Given the description of an element on the screen output the (x, y) to click on. 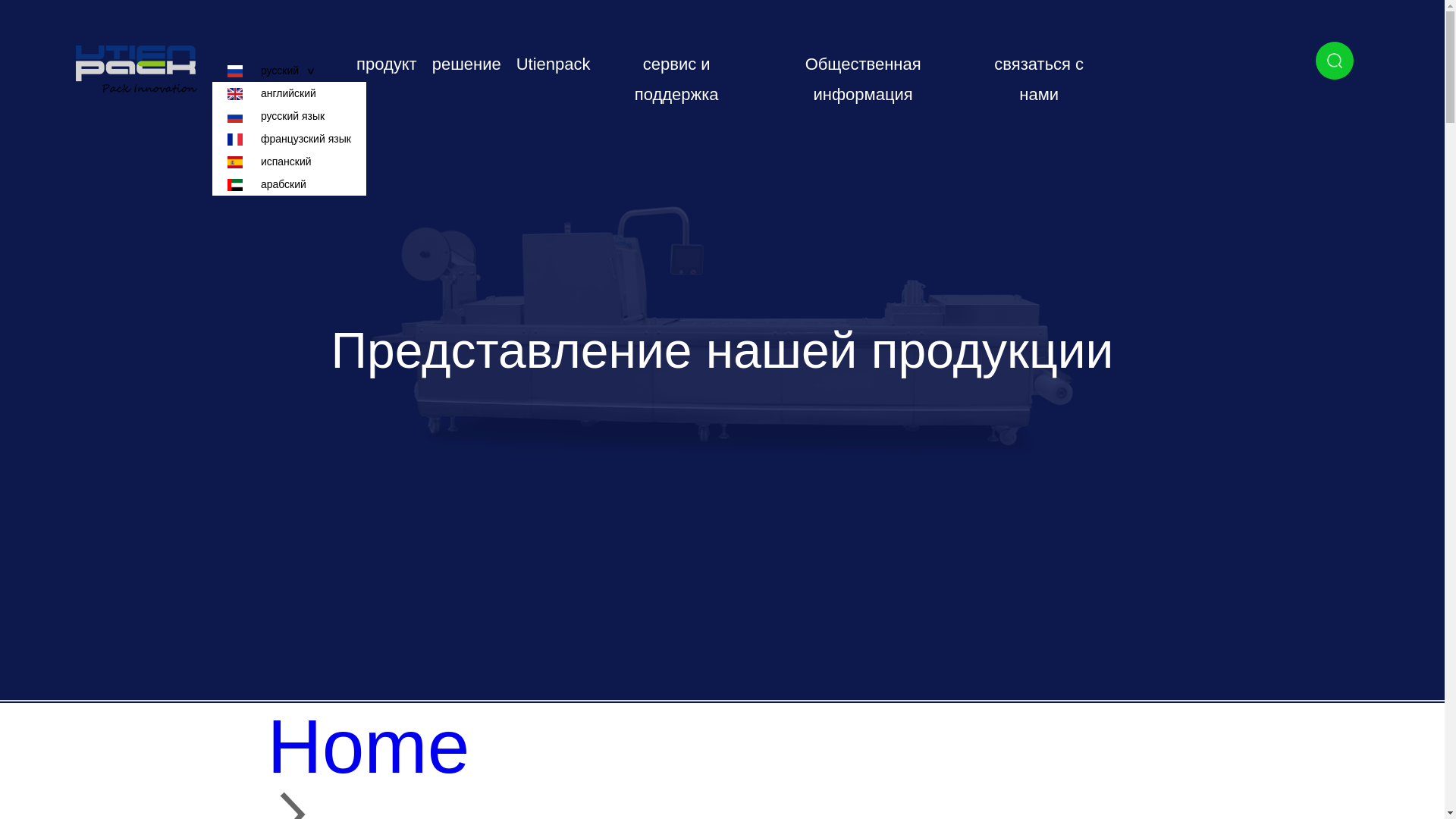
Home (721, 746)
Utienpack (553, 65)
thermoforming machine for food (721, 746)
